Given the description of an element on the screen output the (x, y) to click on. 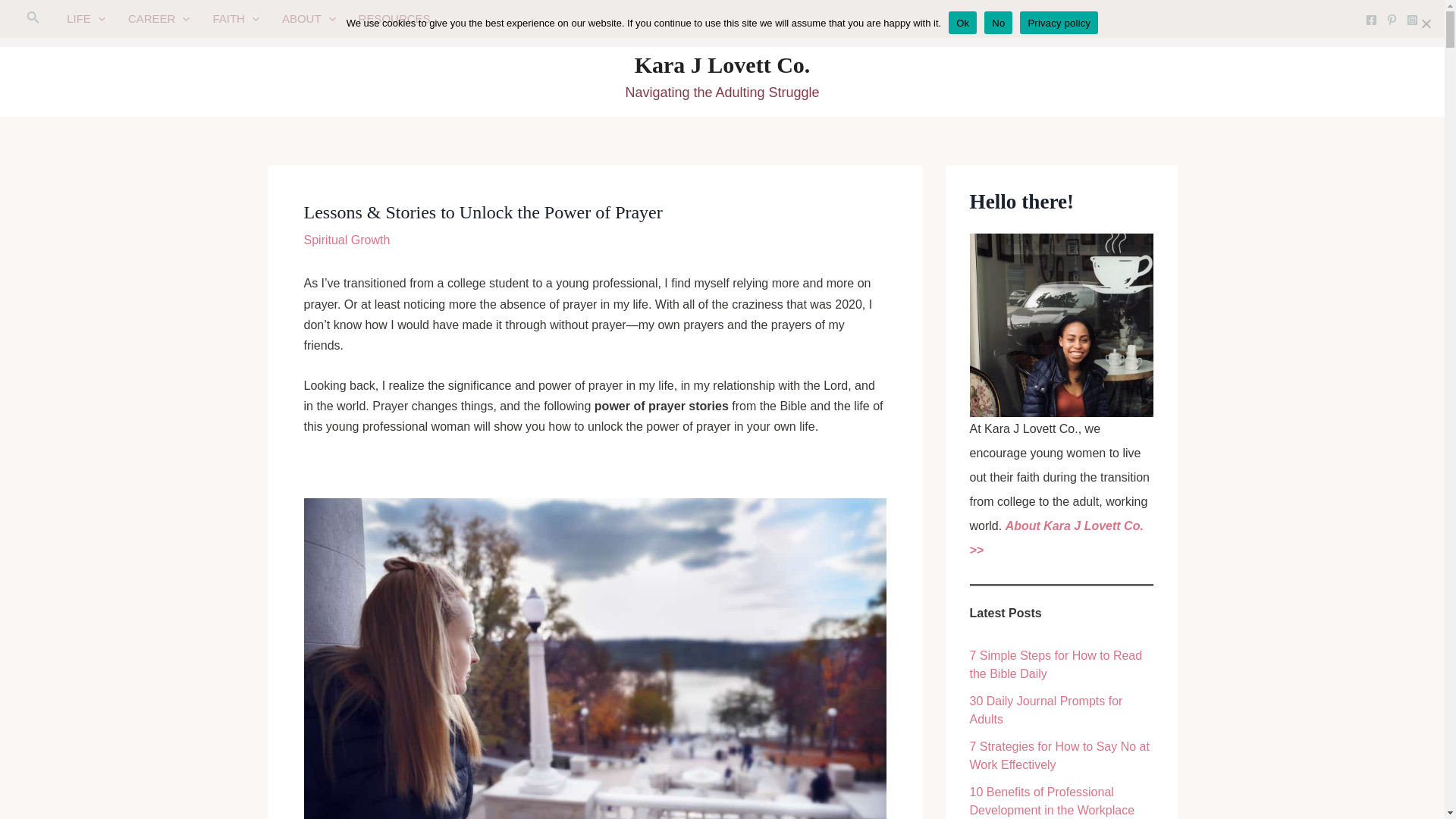
FAITH (235, 18)
ABOUT (308, 18)
RESOURCES (394, 18)
CAREER (159, 18)
Spiritual Growth (346, 239)
No (1425, 23)
Kara J Lovett Co. (722, 64)
LIFE (85, 18)
